Given the description of an element on the screen output the (x, y) to click on. 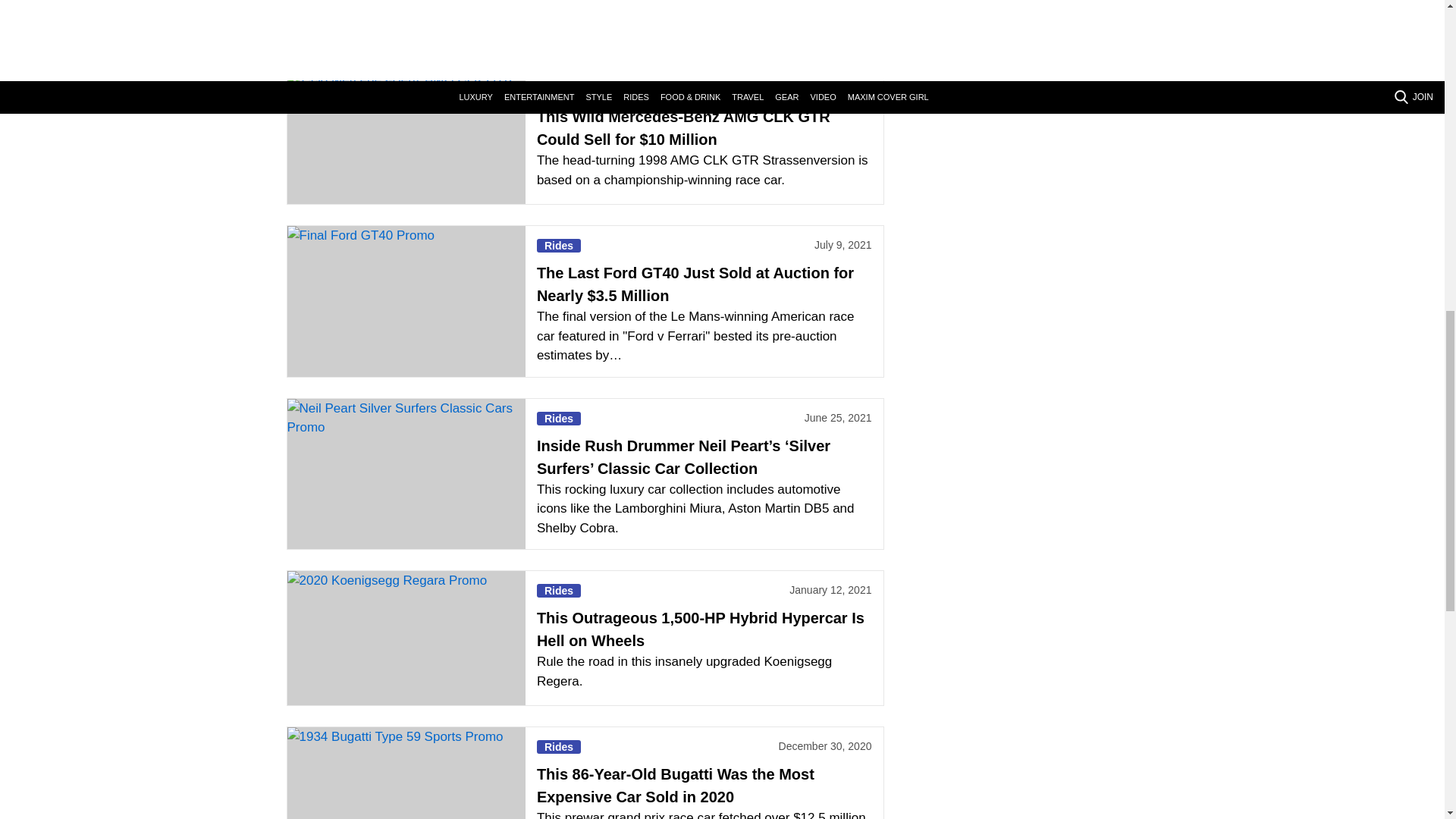
This Outrageous 1,500-HP Hybrid Hypercar Is Hell on Wheels (405, 637)
This Gloss Green Aston Martin DB4 GT Is a Road Racing Legend (405, 24)
